Given the description of an element on the screen output the (x, y) to click on. 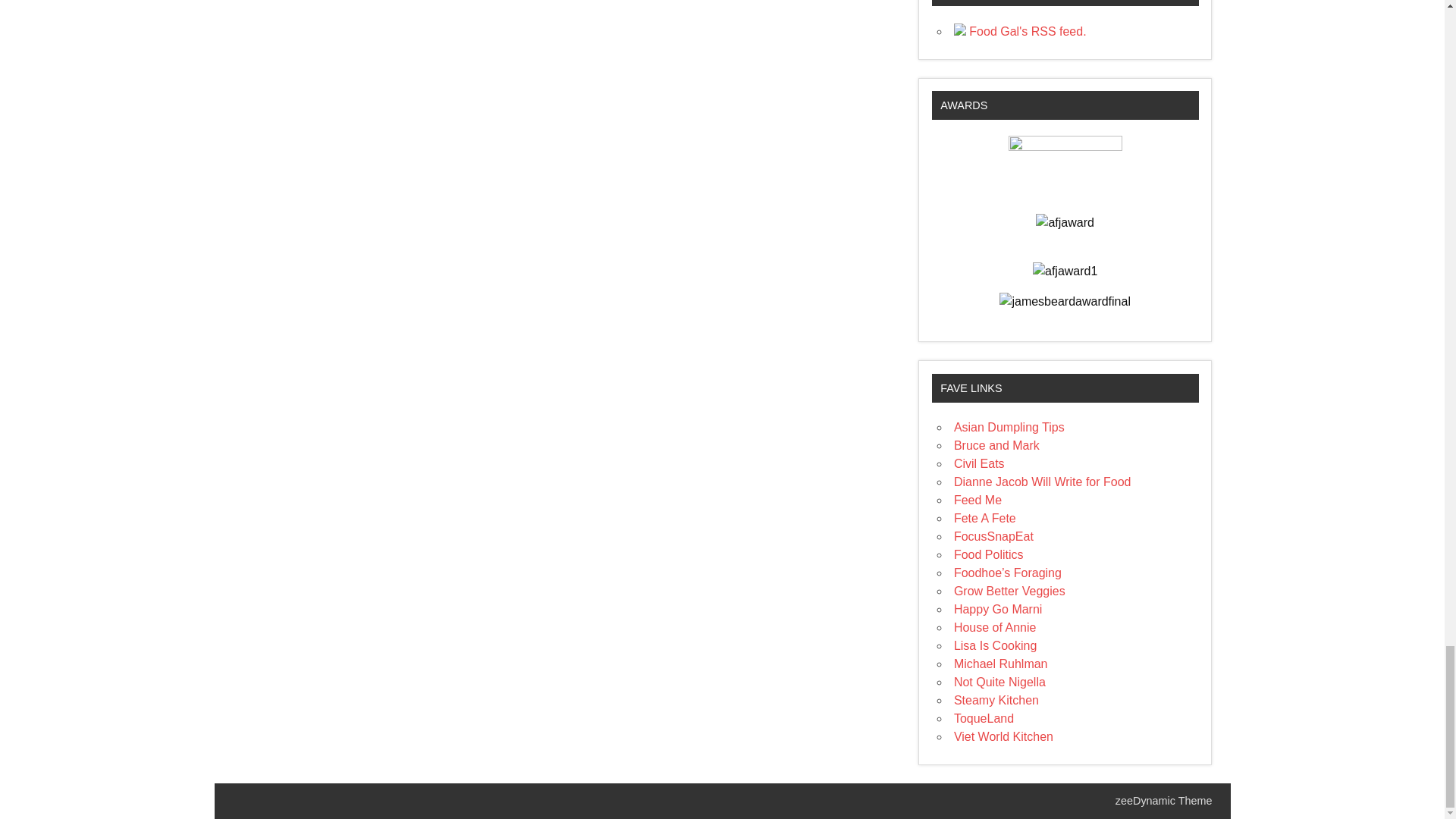
afjaward1 (1064, 271)
afjaward (1064, 222)
Subscribe to Food Gal's RSS feed (1019, 31)
jamesbeardawardfinal (1064, 301)
